Given the description of an element on the screen output the (x, y) to click on. 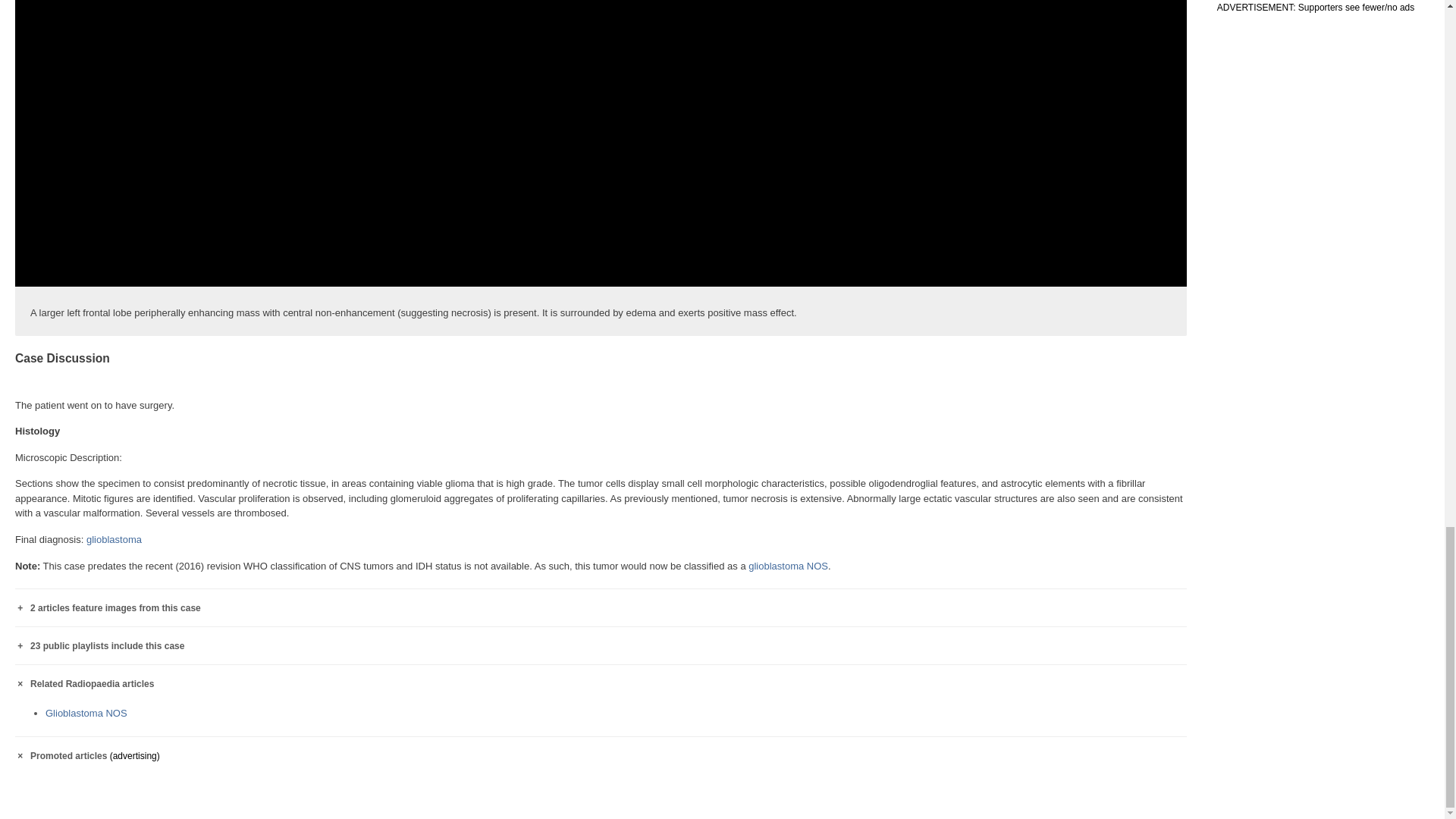
Glioblastoma NOS (788, 565)
glioblastoma NOS (788, 565)
glioblastoma (113, 539)
Glioblastoma (113, 539)
